Given the description of an element on the screen output the (x, y) to click on. 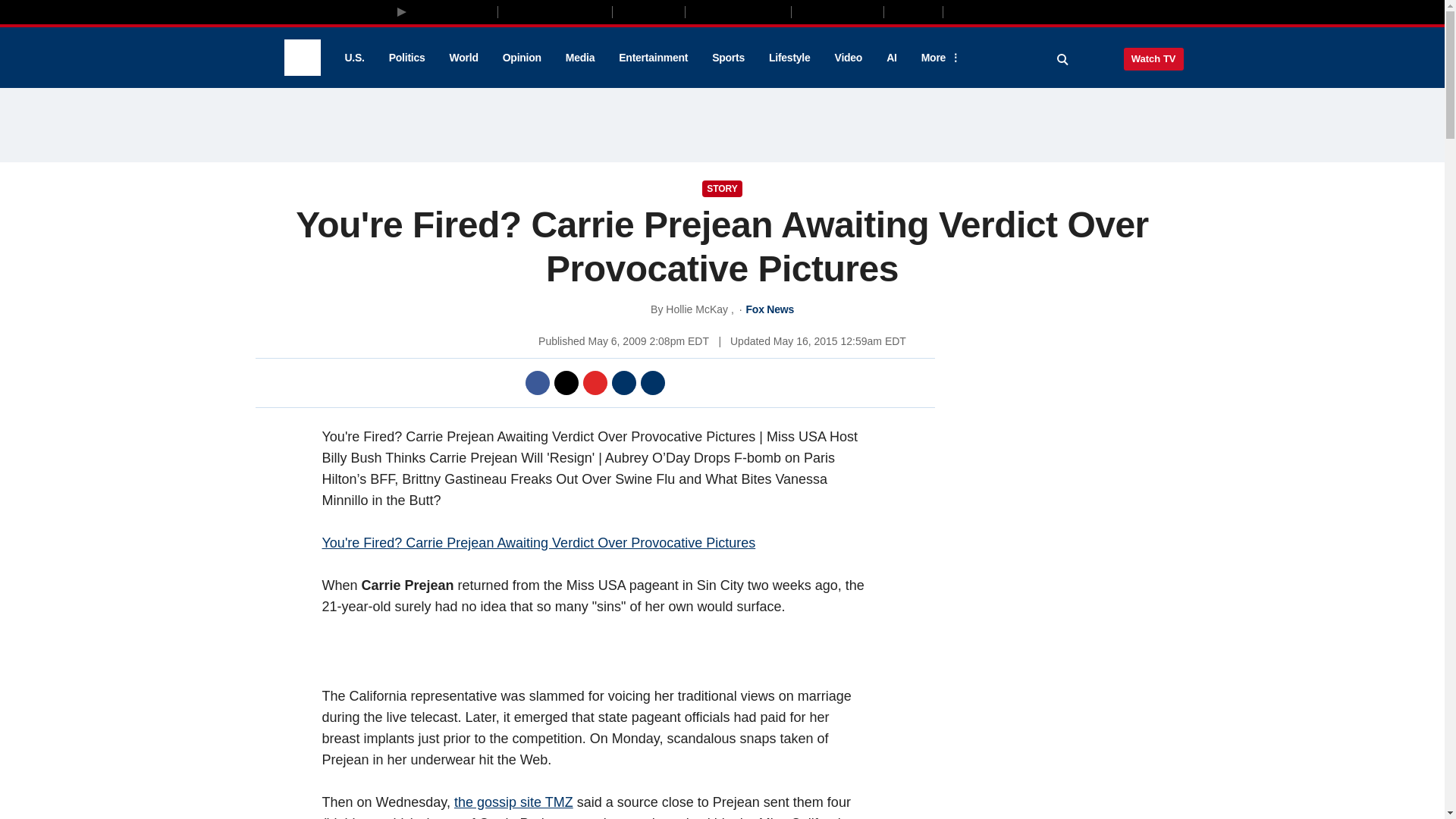
AI (891, 57)
Fox News (301, 57)
More (938, 57)
Entertainment (653, 57)
World (464, 57)
Fox News Audio (737, 11)
Lifestyle (789, 57)
Video (848, 57)
Fox Weather (836, 11)
Fox Nation (648, 11)
Outkick (912, 11)
Politics (407, 57)
Sports (728, 57)
Opinion (521, 57)
Books (1007, 11)
